Given the description of an element on the screen output the (x, y) to click on. 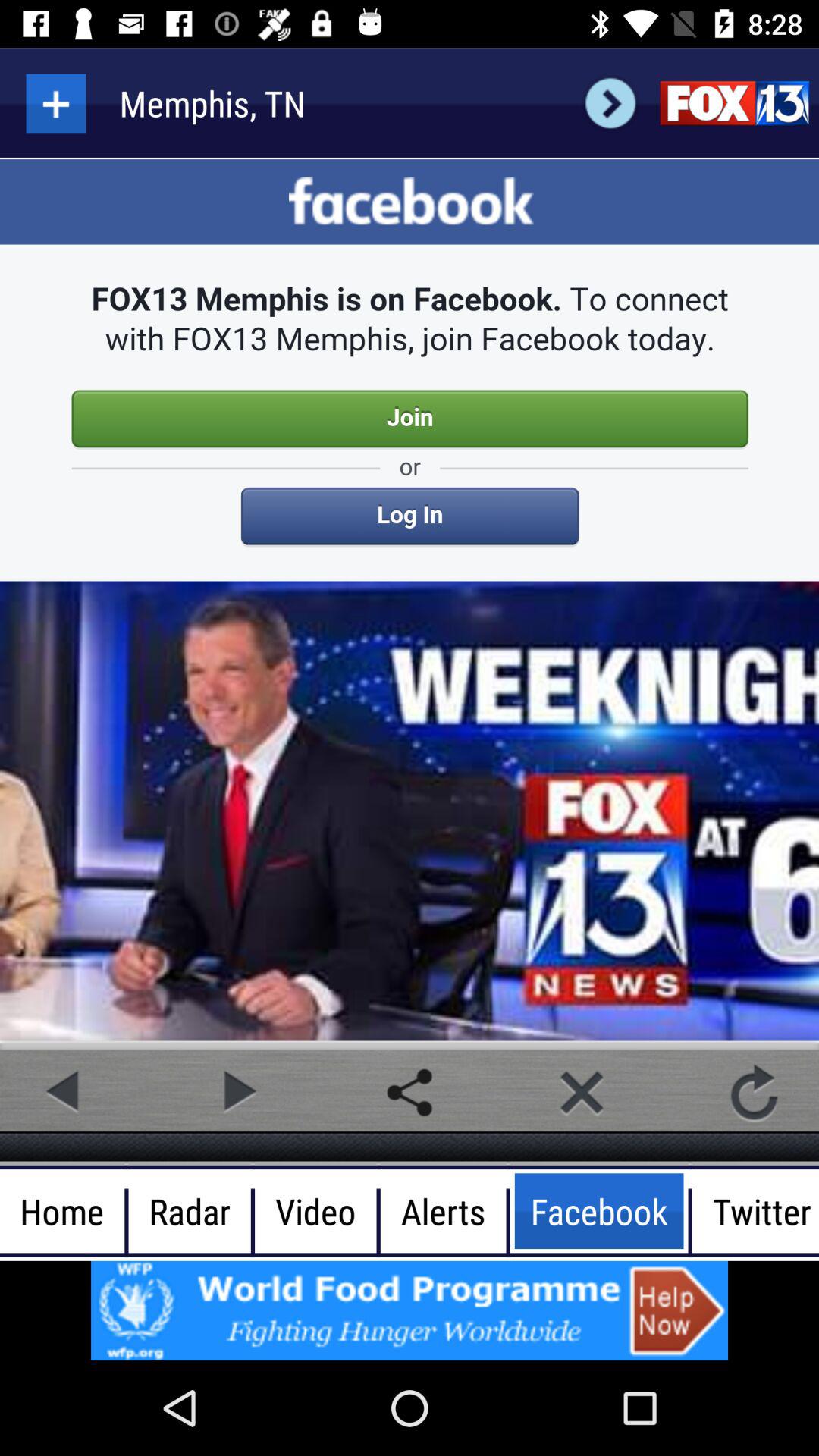
toggle close option (581, 1092)
